Given the description of an element on the screen output the (x, y) to click on. 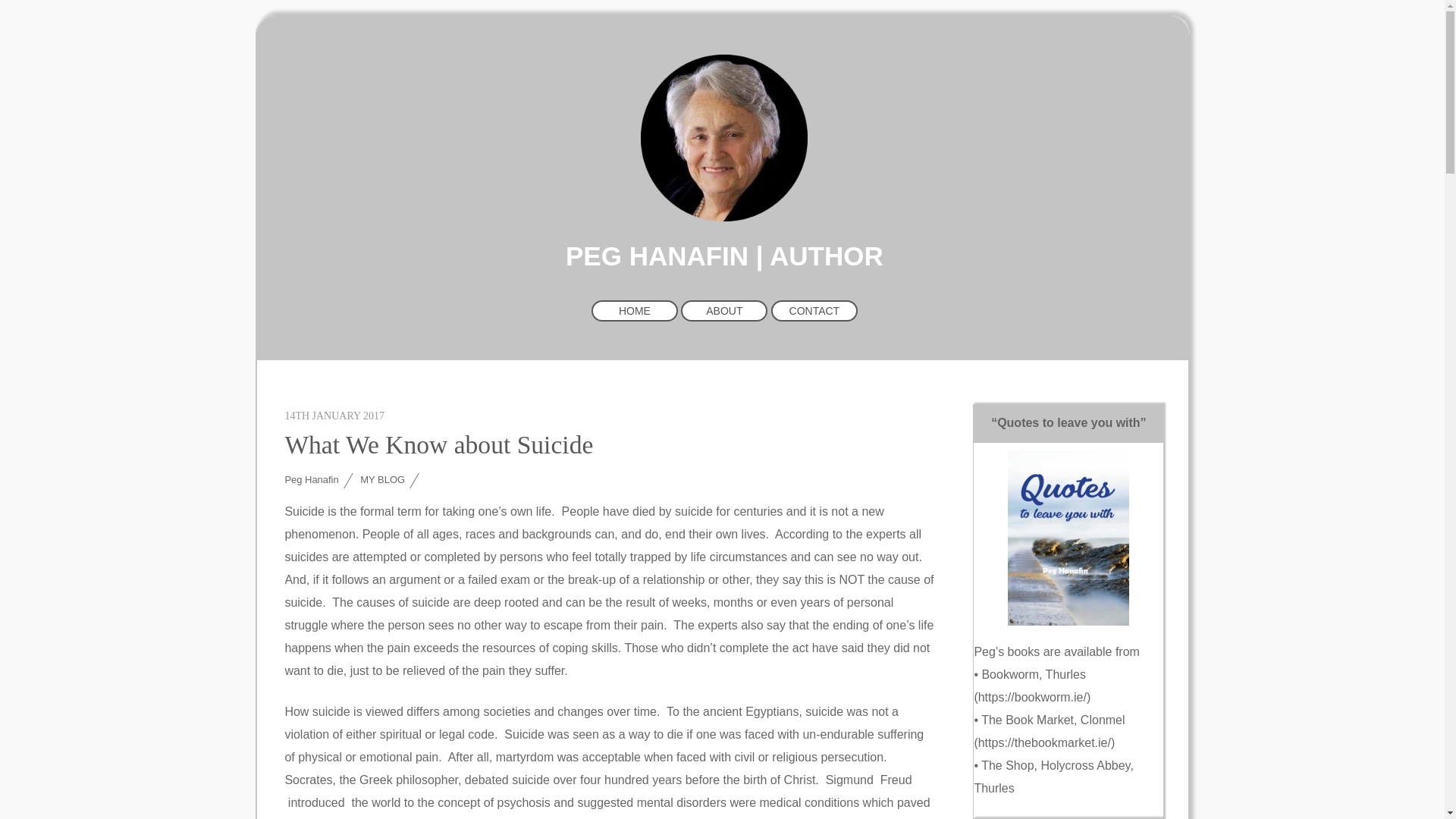
Peg Hanafin (724, 137)
Peg Hanafin (310, 479)
Peg Hanafin (724, 209)
What We Know about Suicide (437, 444)
MY BLOG (381, 479)
Posts by Peg Hanafin (310, 479)
HOME (634, 311)
CONTACT (814, 311)
What We Know about Suicide (437, 444)
ABOUT (723, 311)
